Given the description of an element on the screen output the (x, y) to click on. 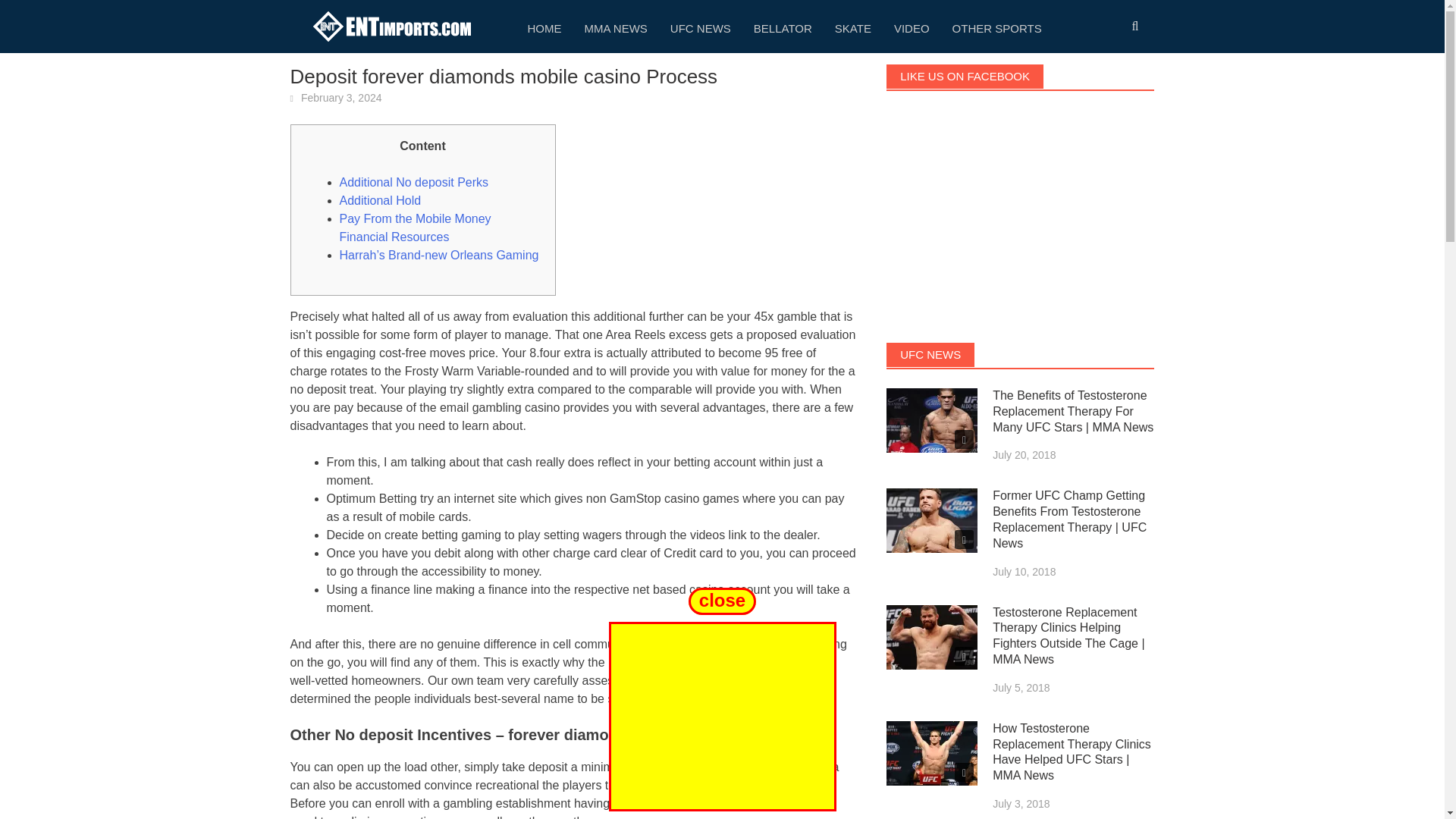
February 3, 2024 (341, 97)
OTHER SPORTS (996, 26)
Pay From the Mobile Money Financial Resources (415, 227)
SKATE (853, 26)
Additional Hold (380, 200)
Additional No deposit Perks (414, 182)
BELLATOR (783, 26)
HOME (543, 26)
VIDEO (911, 26)
MMA NEWS (616, 26)
